Given the description of an element on the screen output the (x, y) to click on. 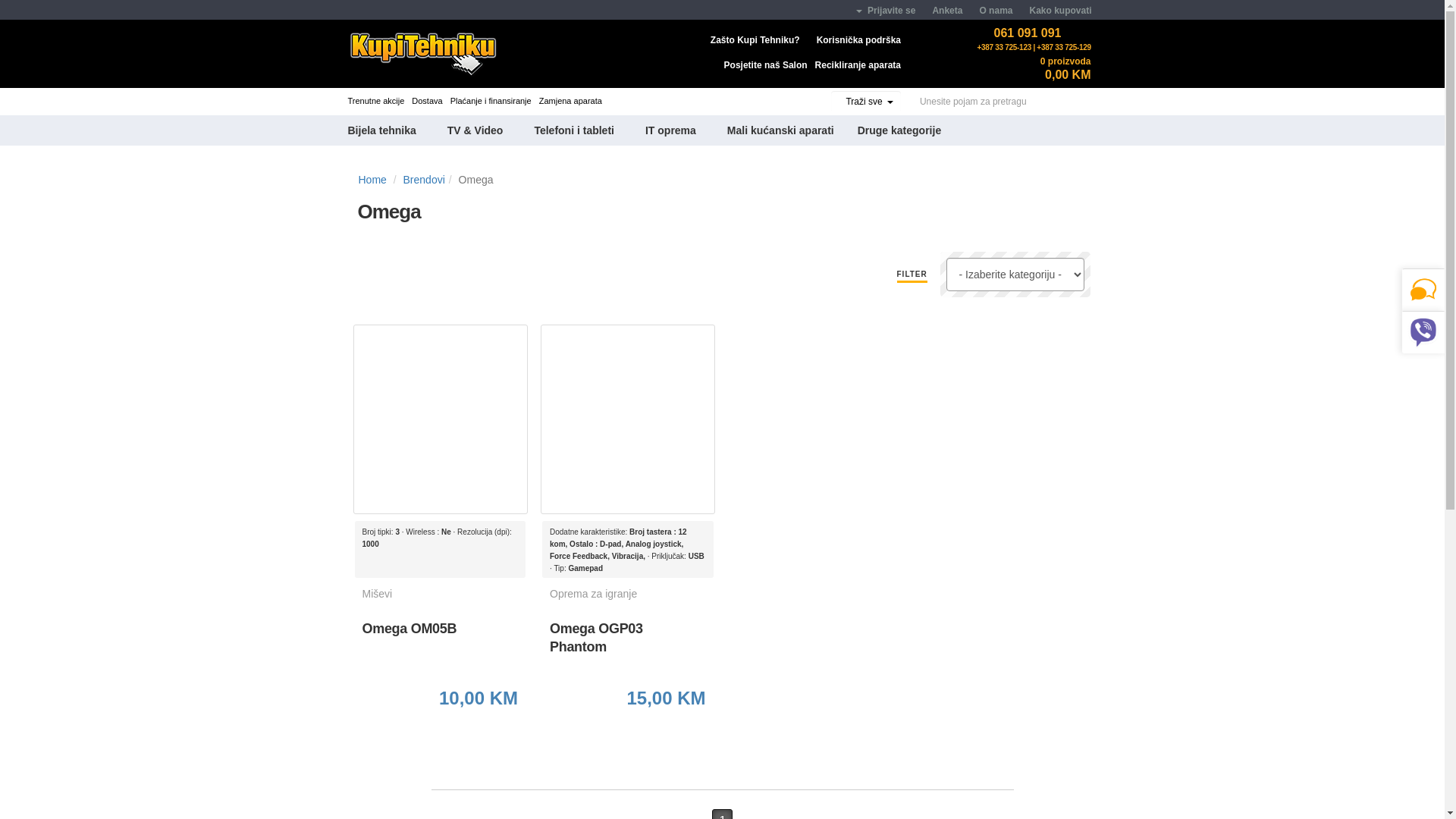
Home Element type: text (371, 179)
Druge kategorije Element type: text (895, 130)
TV & Video Element type: text (475, 130)
Trenutne akcije Element type: text (376, 100)
Dodaj u korpu Element type: hover (661, 730)
Brendovi Element type: text (424, 179)
Bijela tehnika Element type: text (389, 130)
Omega OGP03 Phantom Element type: text (623, 642)
IT oprema Element type: text (671, 130)
  Element type: text (356, 9)
Oprema za igranje Element type: text (623, 593)
  Element type: text (474, 730)
  Element type: text (441, 53)
Recikliranje aparata Element type: text (858, 64)
061 091 091
+387 33 725-123 | +387 33 725-129 Element type: text (1031, 35)
0 proizvoda
0,00 KM Element type: text (1055, 67)
Dostava Element type: text (426, 100)
  Element type: text (661, 730)
Dodaj u korpu Element type: hover (474, 730)
Anketa Element type: text (947, 10)
O nama Element type: text (996, 10)
Oprema za igranje - Omega - OGP03 Phantom Element type: hover (627, 419)
Omega OM05B Element type: text (409, 642)
Zamjena aparata Element type: text (570, 100)
Kako kupovati Element type: text (1060, 10)
Telefoni i tableti Element type: text (574, 130)
  Prijavite se Element type: text (885, 10)
